Given the description of an element on the screen output the (x, y) to click on. 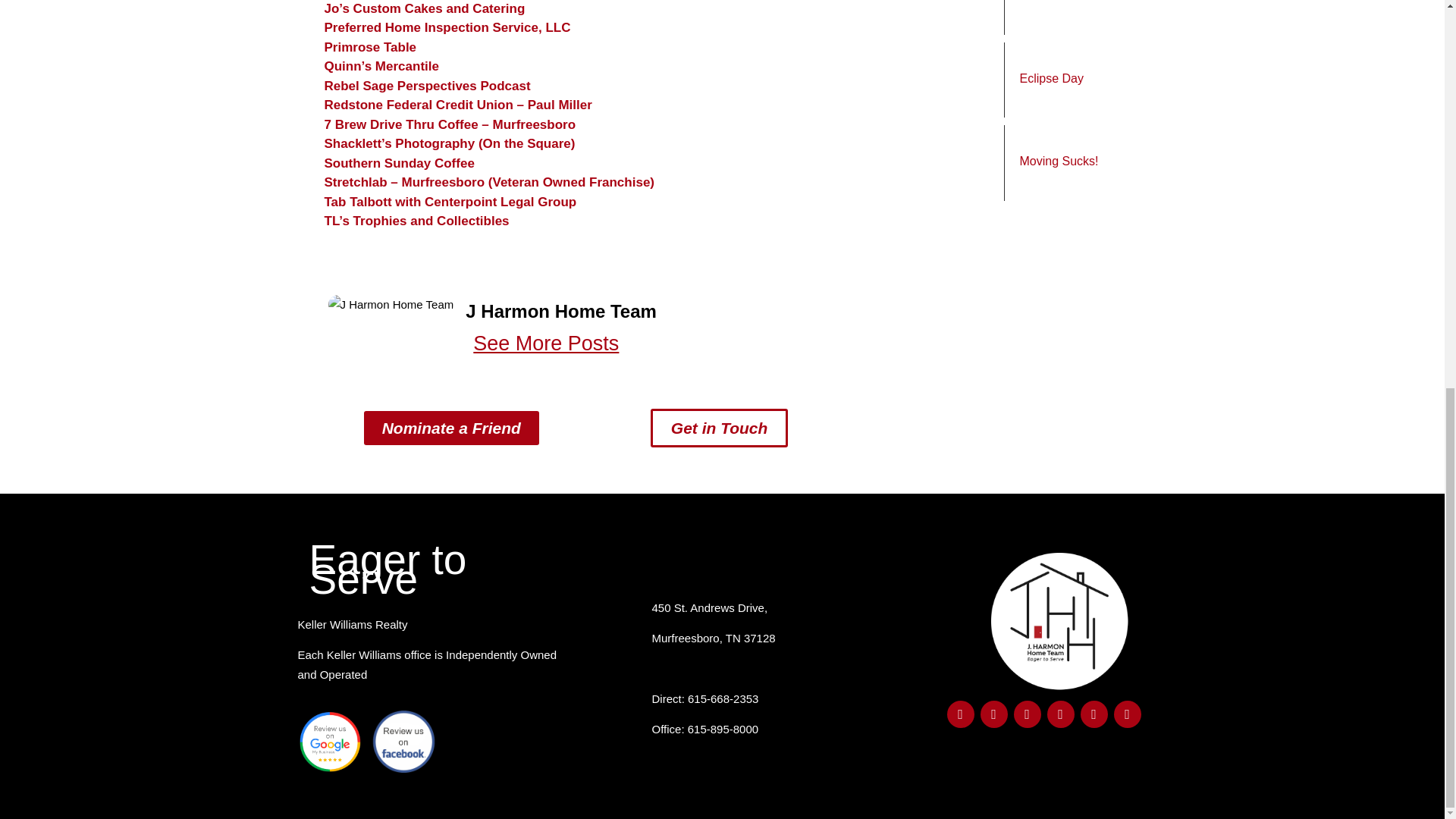
Southern Sunday Coffee (399, 163)
Tab Talbott with Centerpoint Legal Group (450, 201)
Primrose Table (370, 47)
Rebel Sage Perspectives Podcast (427, 85)
Preferred Home Inspection Service, LLC (447, 27)
